Given the description of an element on the screen output the (x, y) to click on. 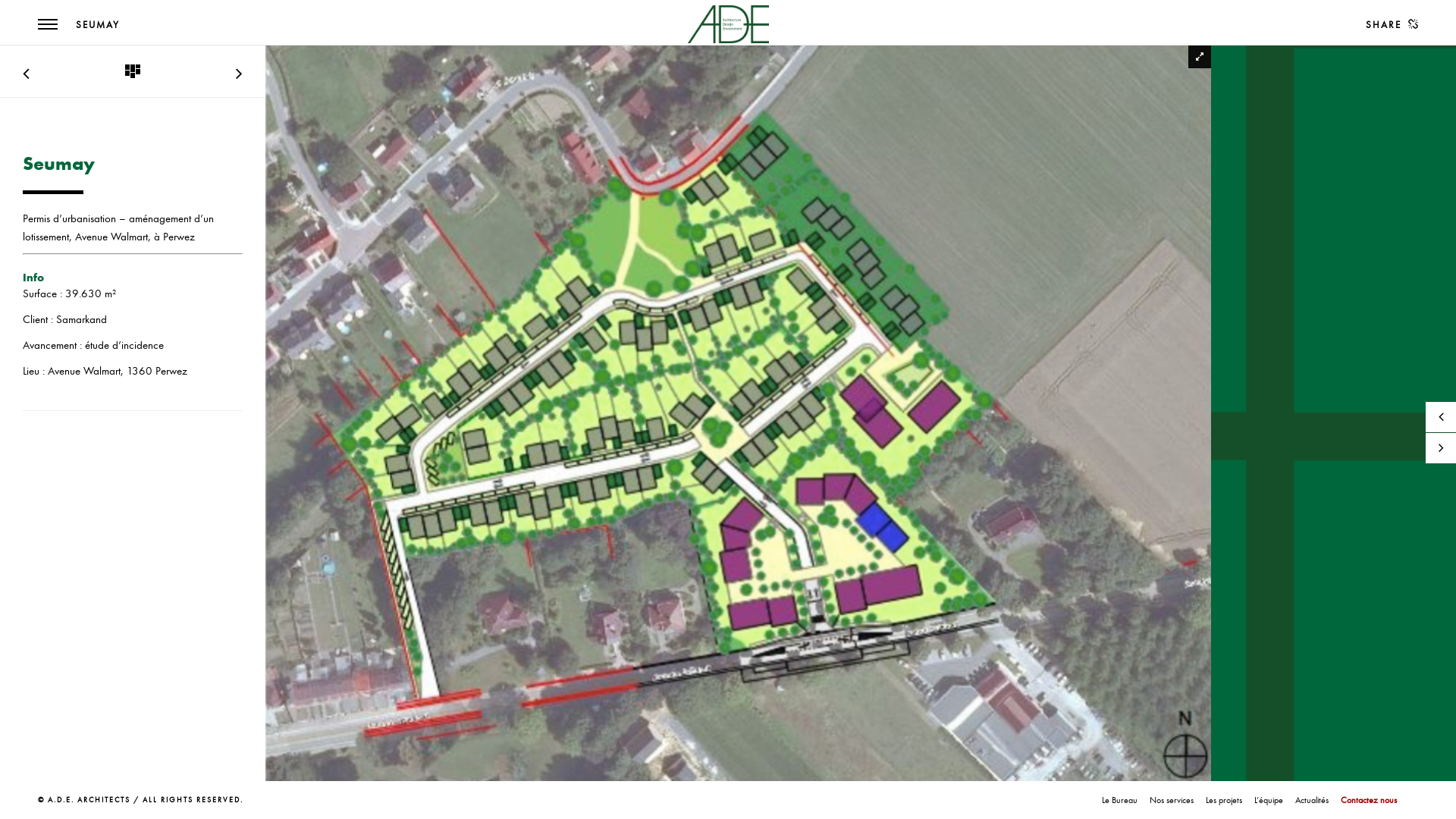
Les projets Element type: text (1223, 799)
Le Bureau Element type: text (1119, 799)
Contactez nous Element type: text (1368, 799)
Nos services Element type: text (1171, 799)
SEUMAY Element type: text (97, 24)
